Given the description of an element on the screen output the (x, y) to click on. 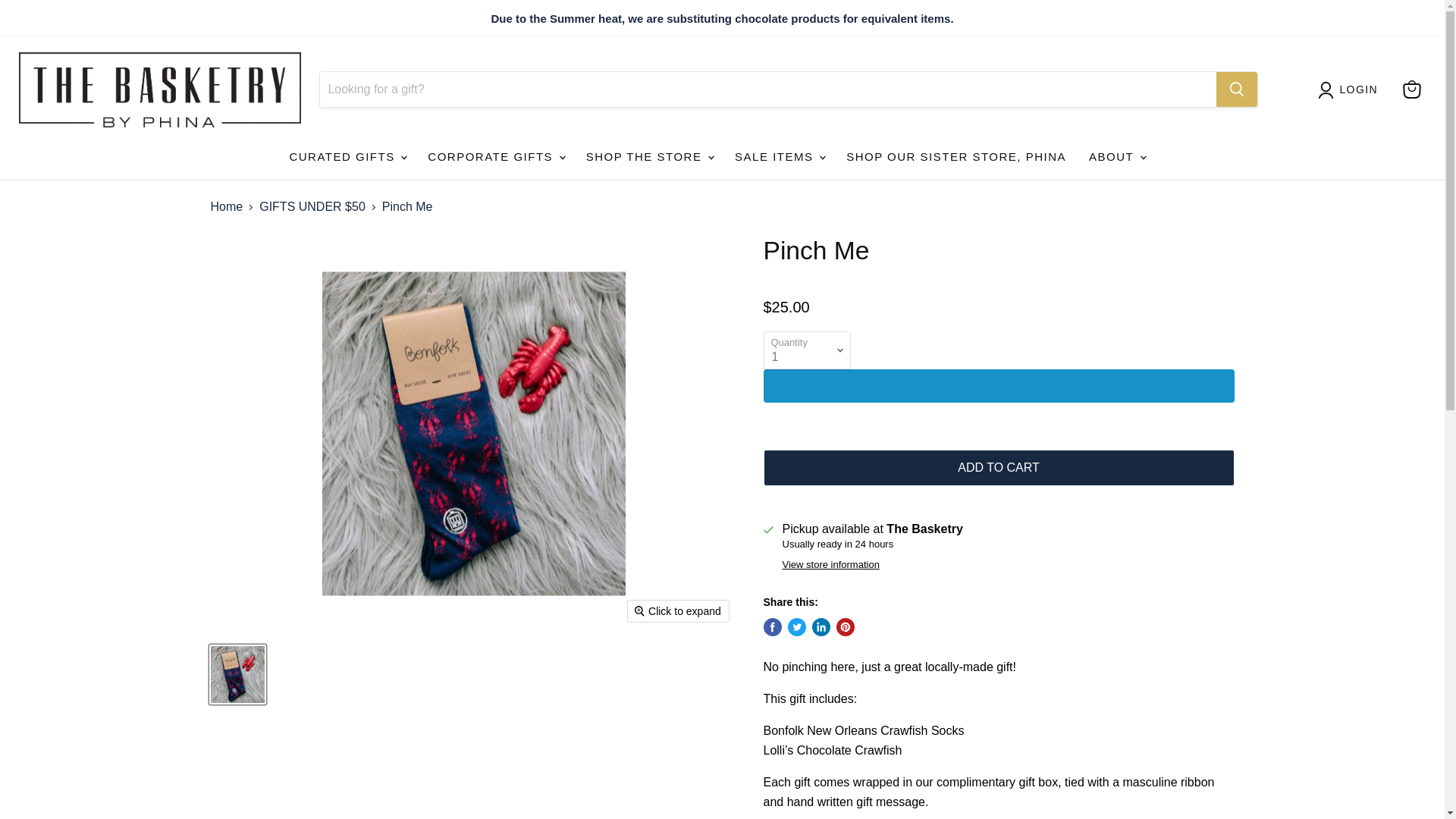
CURATED GIFTS (347, 156)
CORPORATE GIFTS (494, 156)
SHOP THE STORE (649, 156)
LOGIN (1358, 89)
View cart (1411, 89)
